Given the description of an element on the screen output the (x, y) to click on. 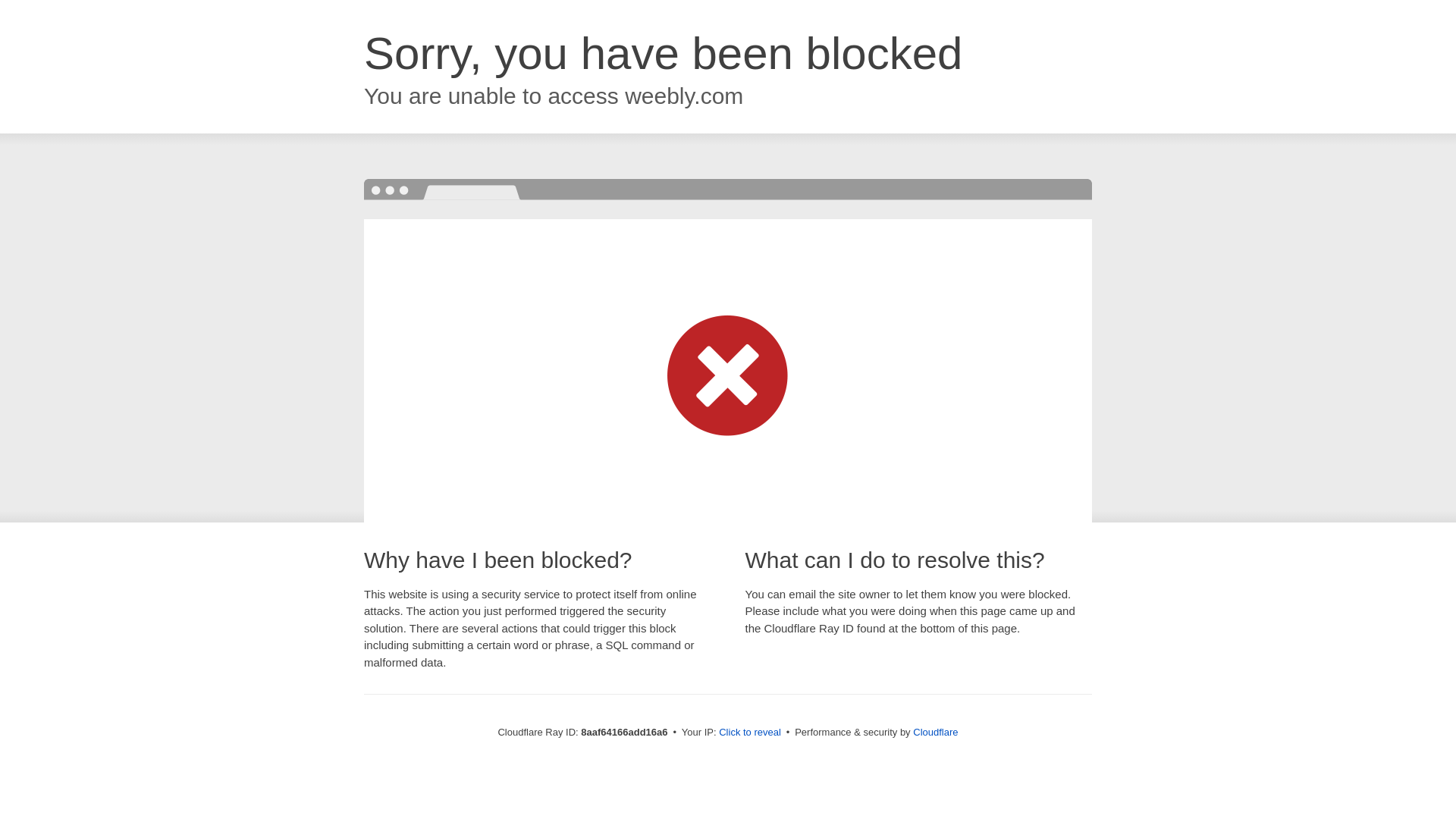
Cloudflare (935, 731)
Click to reveal (749, 732)
